Given the description of an element on the screen output the (x, y) to click on. 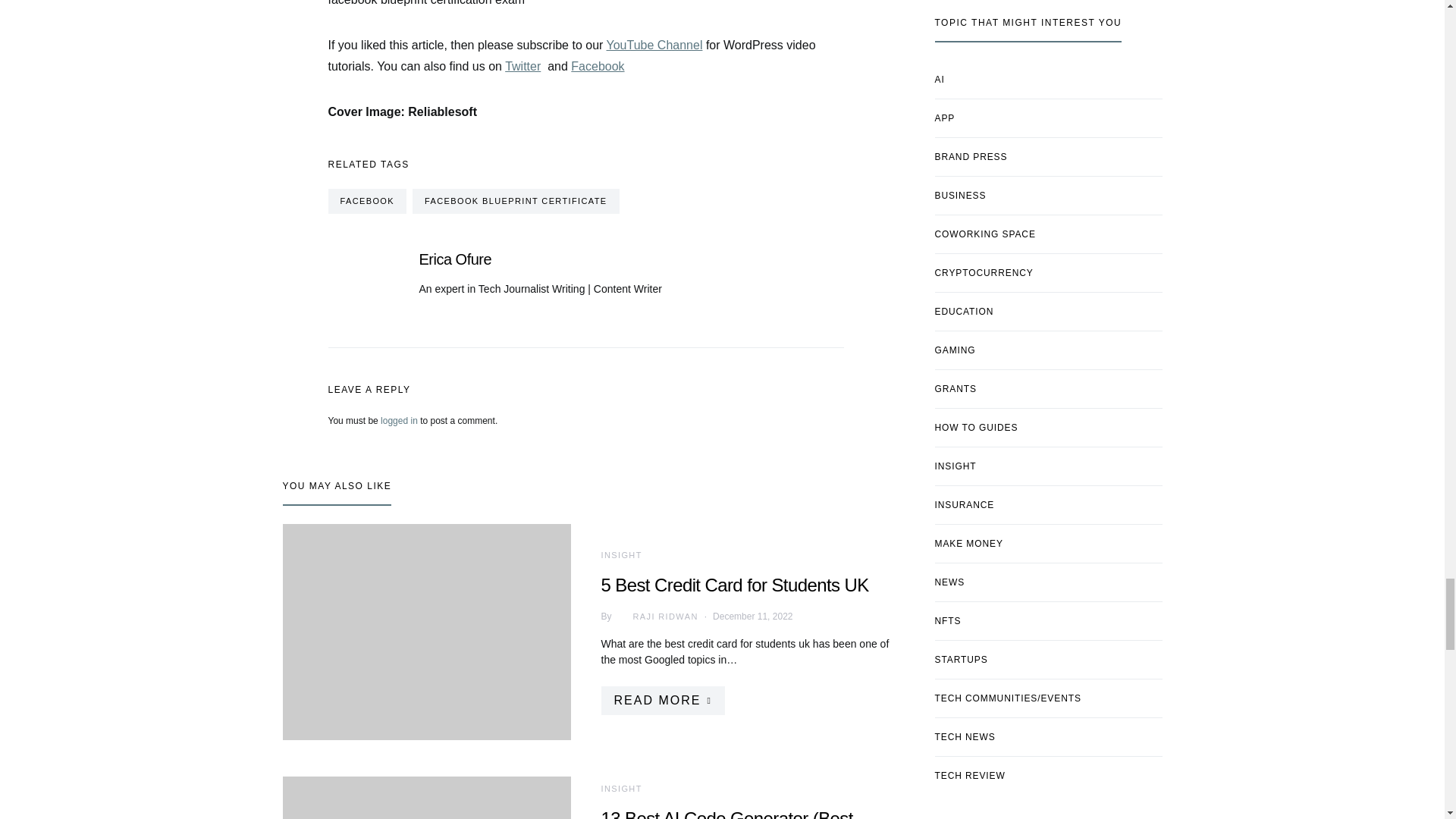
View all posts by Raji Ridwan (654, 616)
Facebook (597, 65)
FACEBOOK (366, 201)
YouTube Channel (655, 44)
Twitter (522, 65)
FACEBOOK BLUEPRINT CERTIFICATE (516, 201)
5 Best Credit Card for Students UK 3 (426, 632)
